Given the description of an element on the screen output the (x, y) to click on. 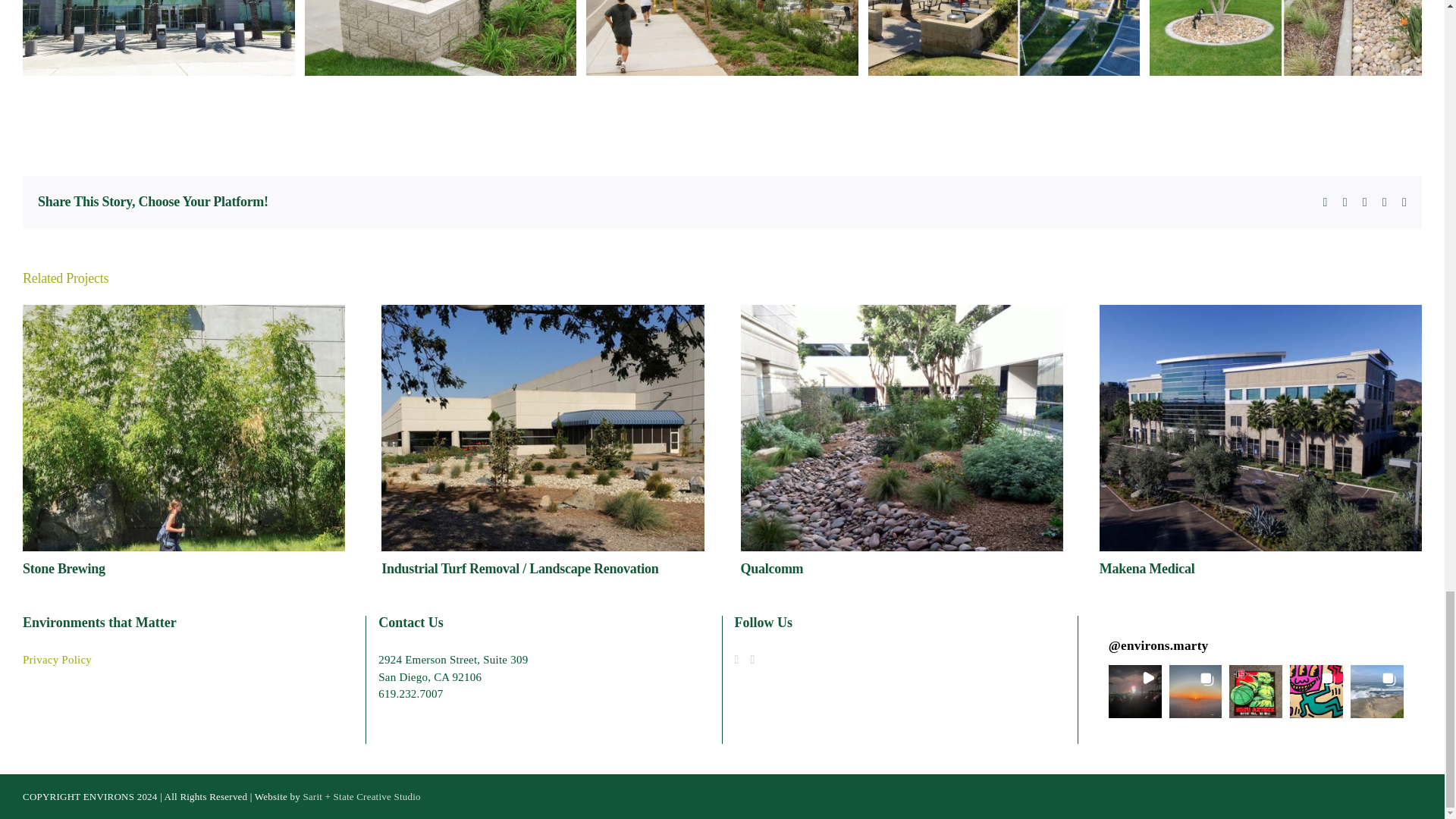
Qualcomm (771, 568)
Makena Medical (1147, 568)
Makena Medical (1147, 568)
Privacy Policy (57, 659)
Qualcomm (771, 568)
Stone Brewing (63, 568)
Stone Brewing (63, 568)
